Given the description of an element on the screen output the (x, y) to click on. 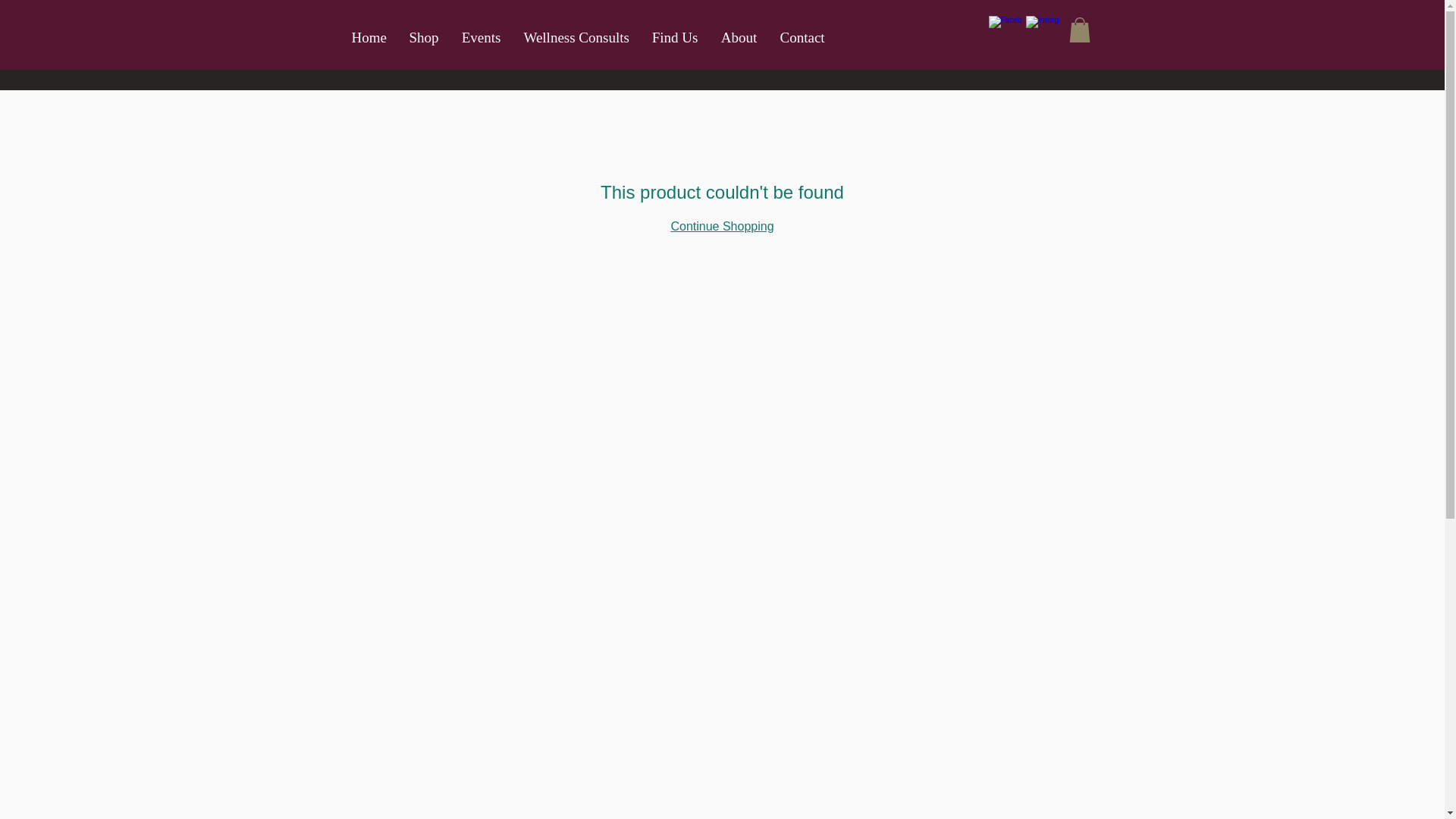
Shop (423, 37)
Home (368, 37)
Contact (801, 37)
Events (480, 37)
Find Us (674, 37)
Wellness Consults (576, 37)
Continue Shopping (721, 226)
